Given the description of an element on the screen output the (x, y) to click on. 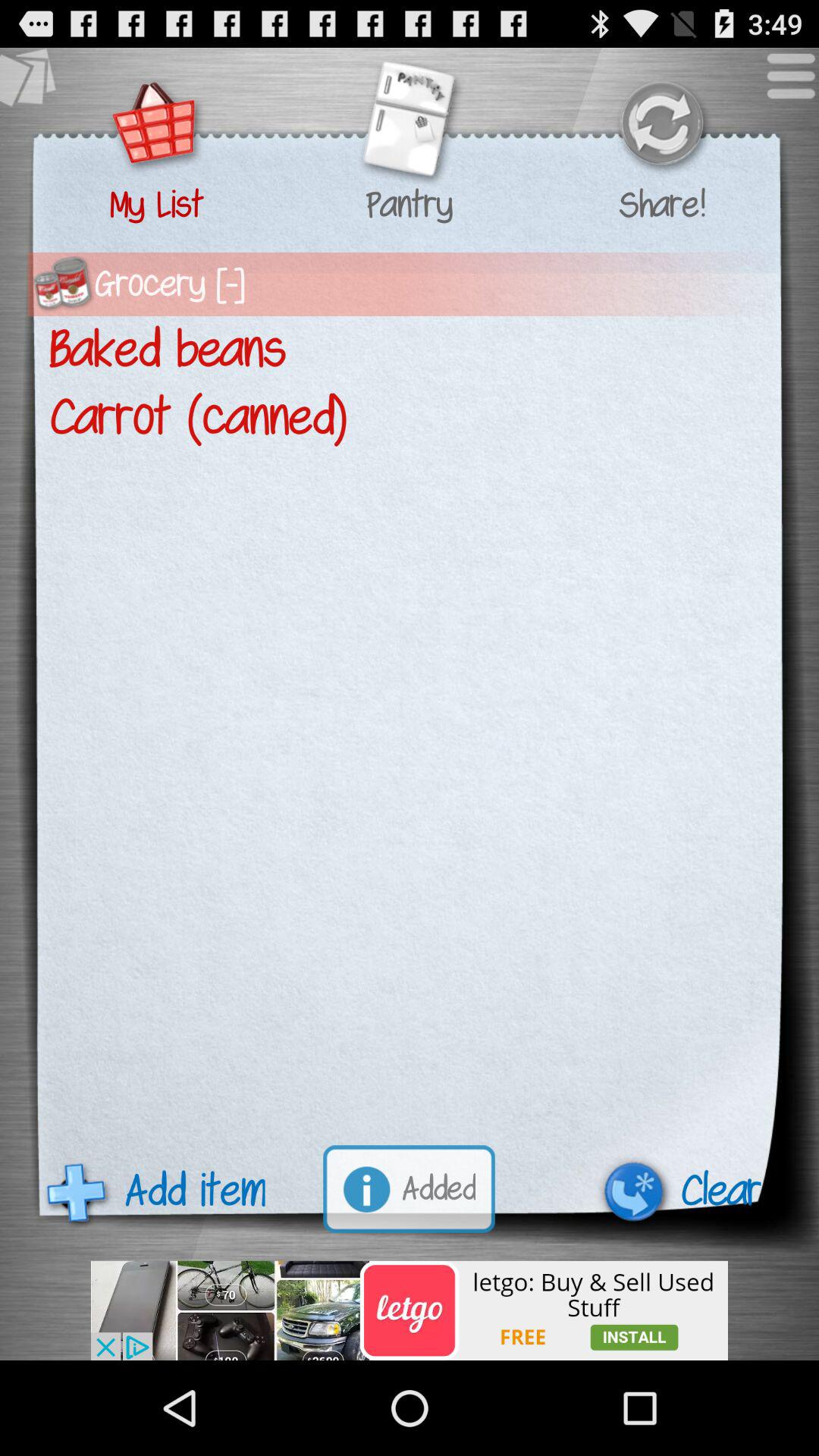
share list (661, 125)
